Given the description of an element on the screen output the (x, y) to click on. 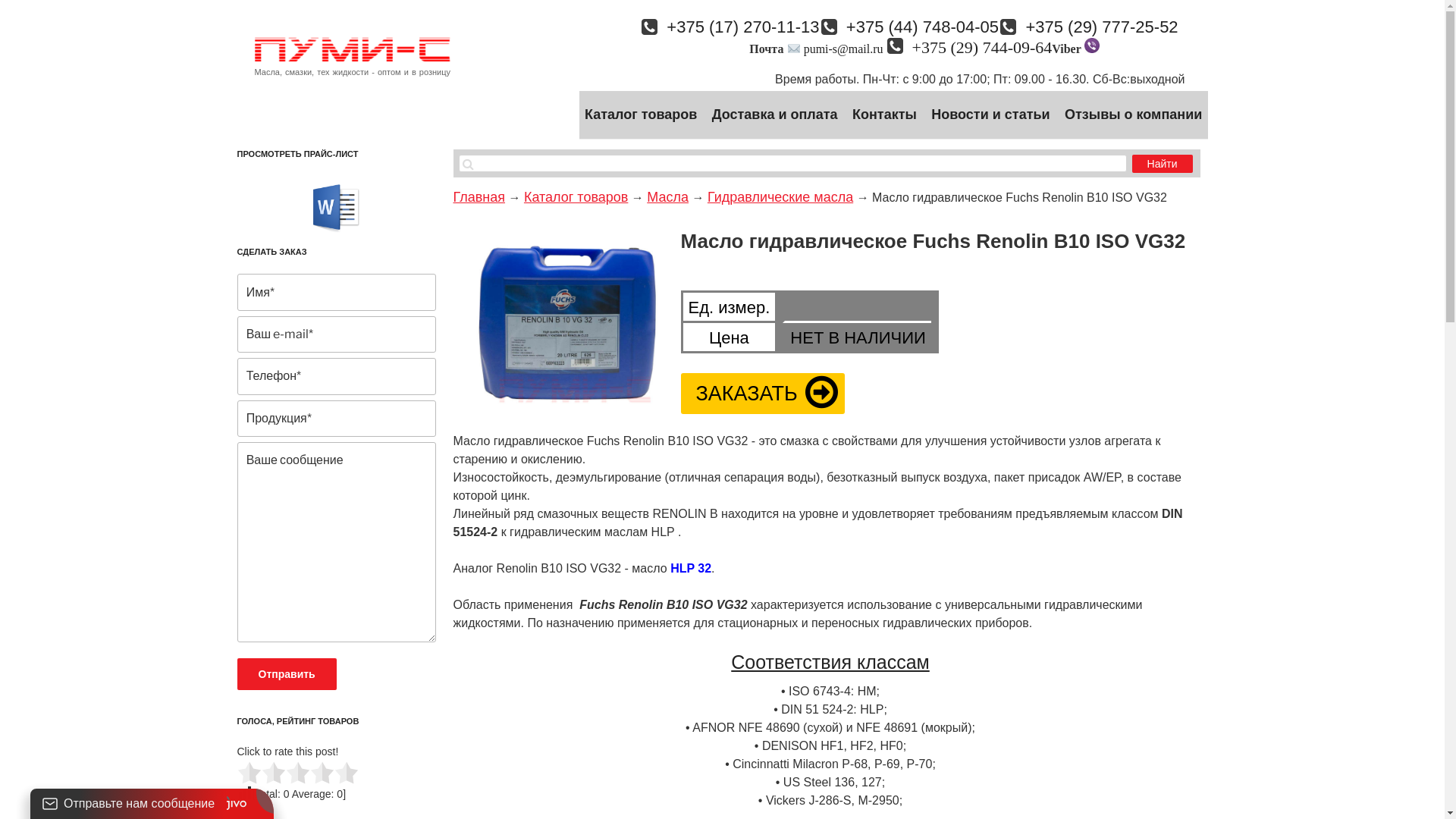
+375 (17) 270-11-13 Element type: text (734, 26)
+375 (29) 744-09-64 Element type: text (973, 46)
+375 (29) 777-25-52 Element type: text (1092, 26)
pumi-s@mail.ru Element type: text (843, 48)
HLP 32 Element type: text (690, 567)
+375 (44) 748-04-05 Element type: text (913, 26)
